Given the description of an element on the screen output the (x, y) to click on. 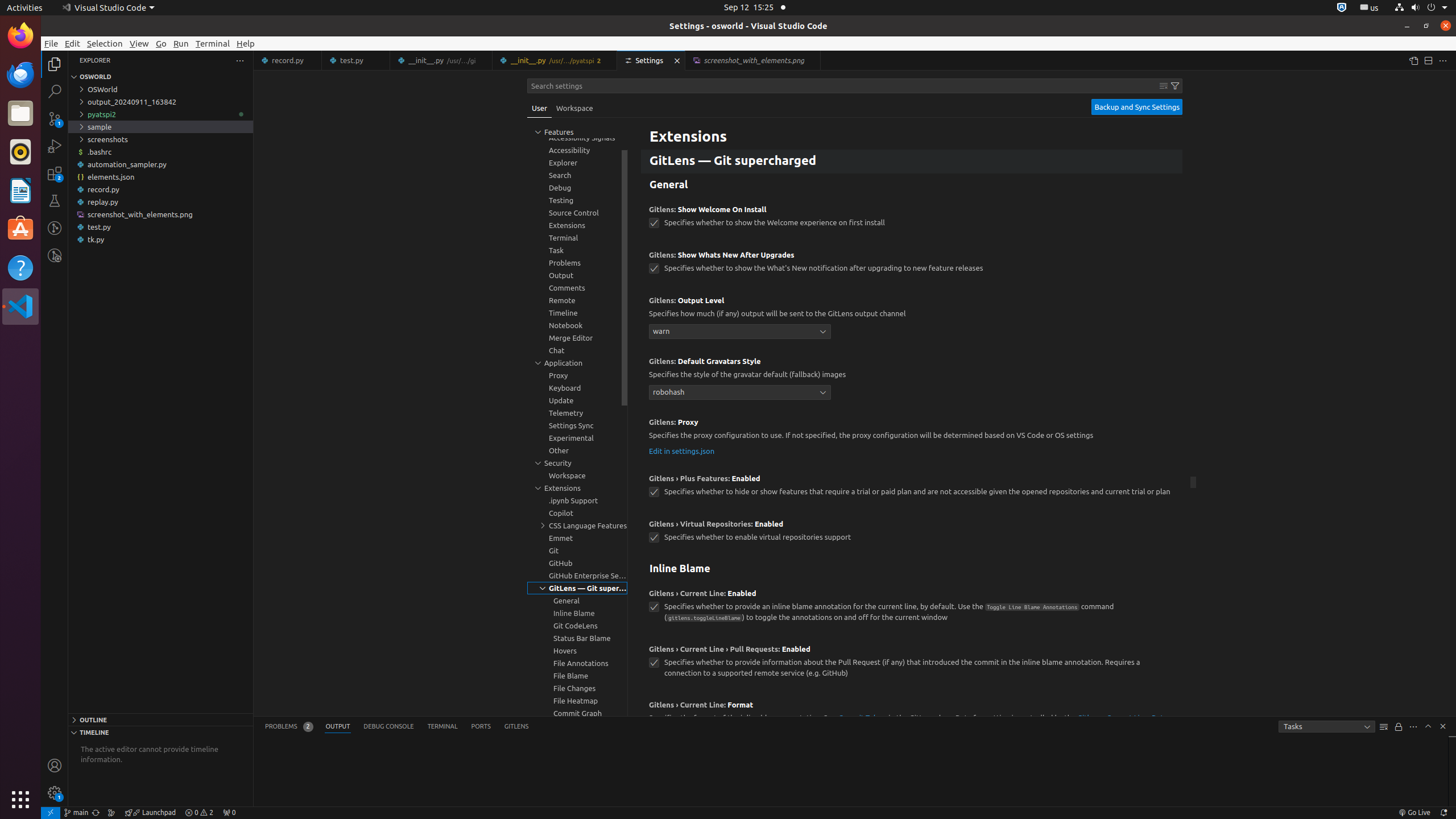
General, group Element type: tree-item (577, 600)
Manage - New Code update available. Element type: push-button (54, 792)
Proxy, group Element type: tree-item (577, 375)
record.py Element type: tree-item (160, 189)
Gitlens › Current Line Format. Specifies the format of the inline blame annotation. See Commit Tokens in the GitLens docs. Date formatting is controlled by the "Gitlens › Current Line: Date Format" setting  Element type: tree-item (911, 727)
